Given the description of an element on the screen output the (x, y) to click on. 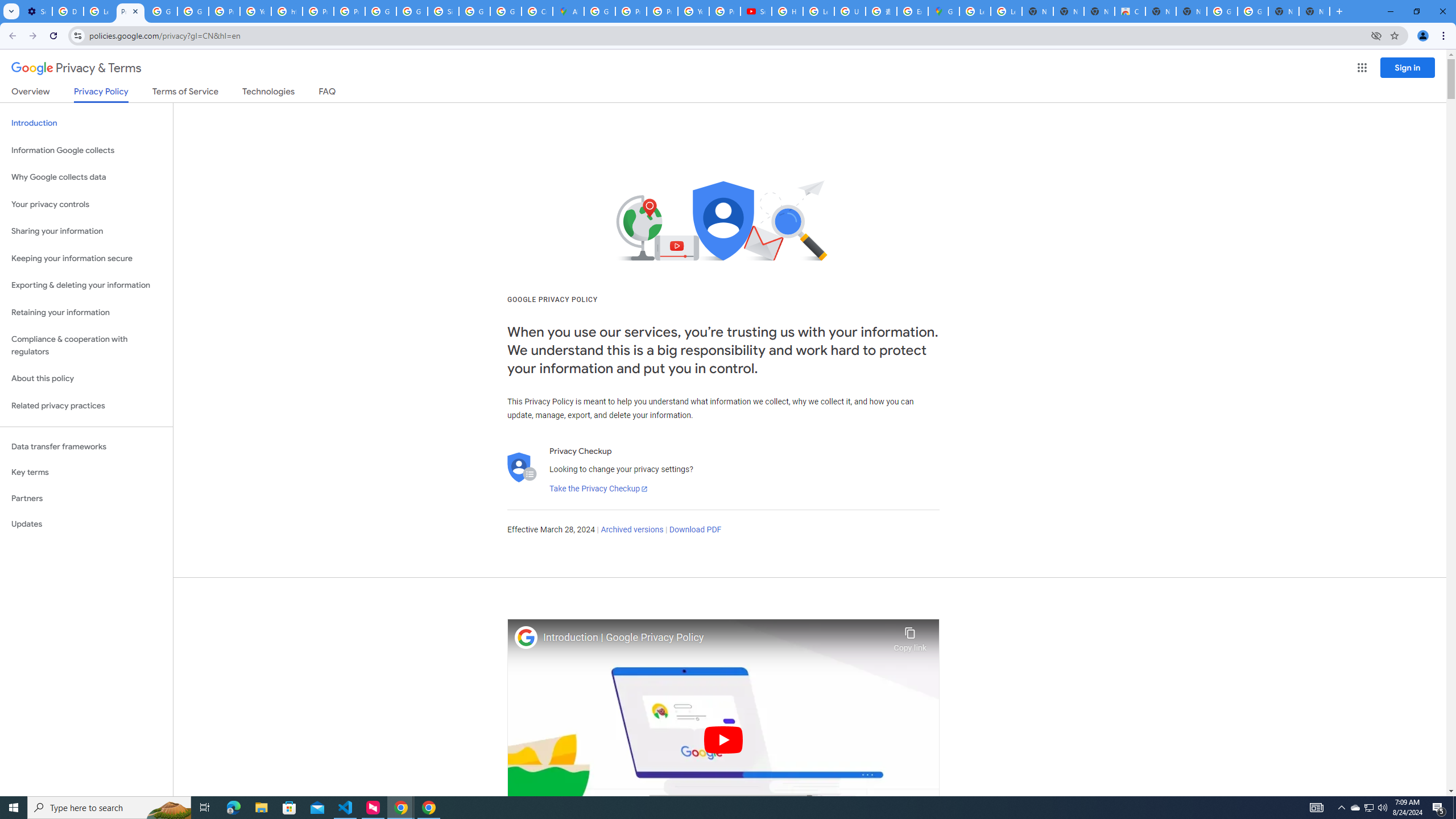
Data transfer frameworks (86, 446)
Google Images (1222, 11)
Google Images (1252, 11)
Copy link (909, 636)
Take the Privacy Checkup (597, 488)
Compliance & cooperation with regulators (86, 345)
Privacy Help Center - Policies Help (631, 11)
Google Maps (943, 11)
